Given the description of an element on the screen output the (x, y) to click on. 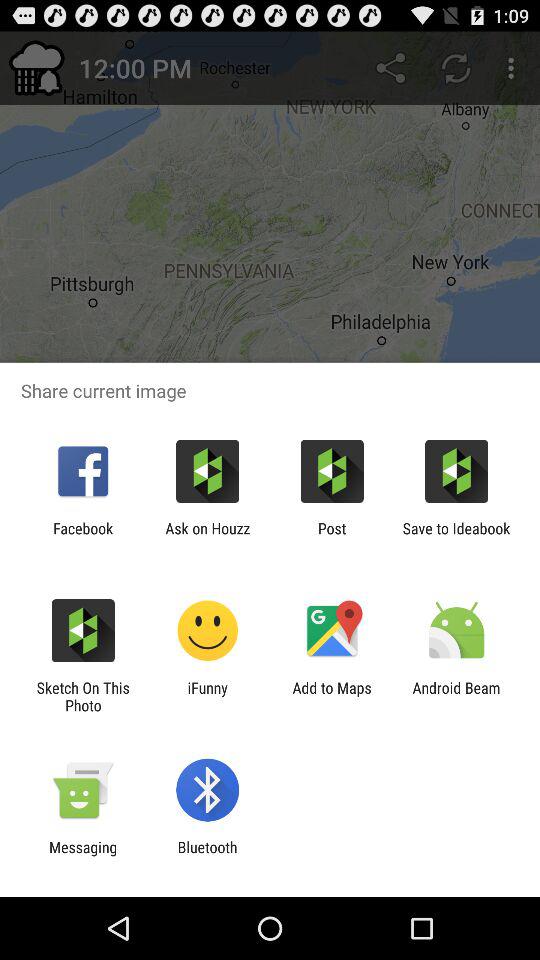
scroll until the facebook (83, 537)
